Given the description of an element on the screen output the (x, y) to click on. 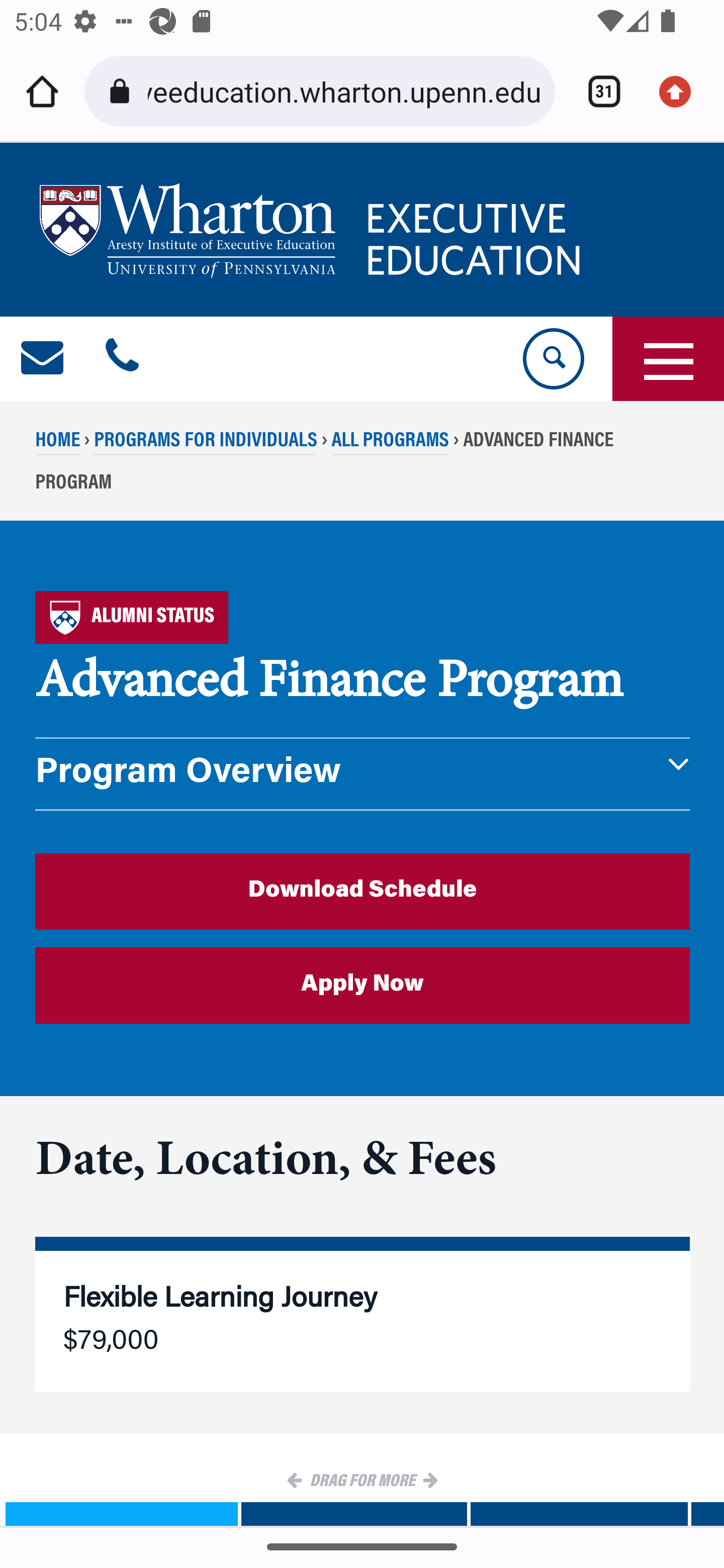
Home (42, 91)
Connection is secure (122, 91)
Switch or close tabs (597, 91)
Update available. More options (681, 91)
Wharton Executive Education (313, 230)
 (43, 358)
 (122, 358)
Mobile menu toggle (668, 358)
 Search Wharton  (552, 358)
HOME (58, 441)
PROGRAMS FOR INDIVIDUALS (205, 441)
ALL PROGRAMS (390, 441)
Program Overview  (362, 774)
Download Schedule (363, 890)
Apply Now (363, 986)
